Given the description of an element on the screen output the (x, y) to click on. 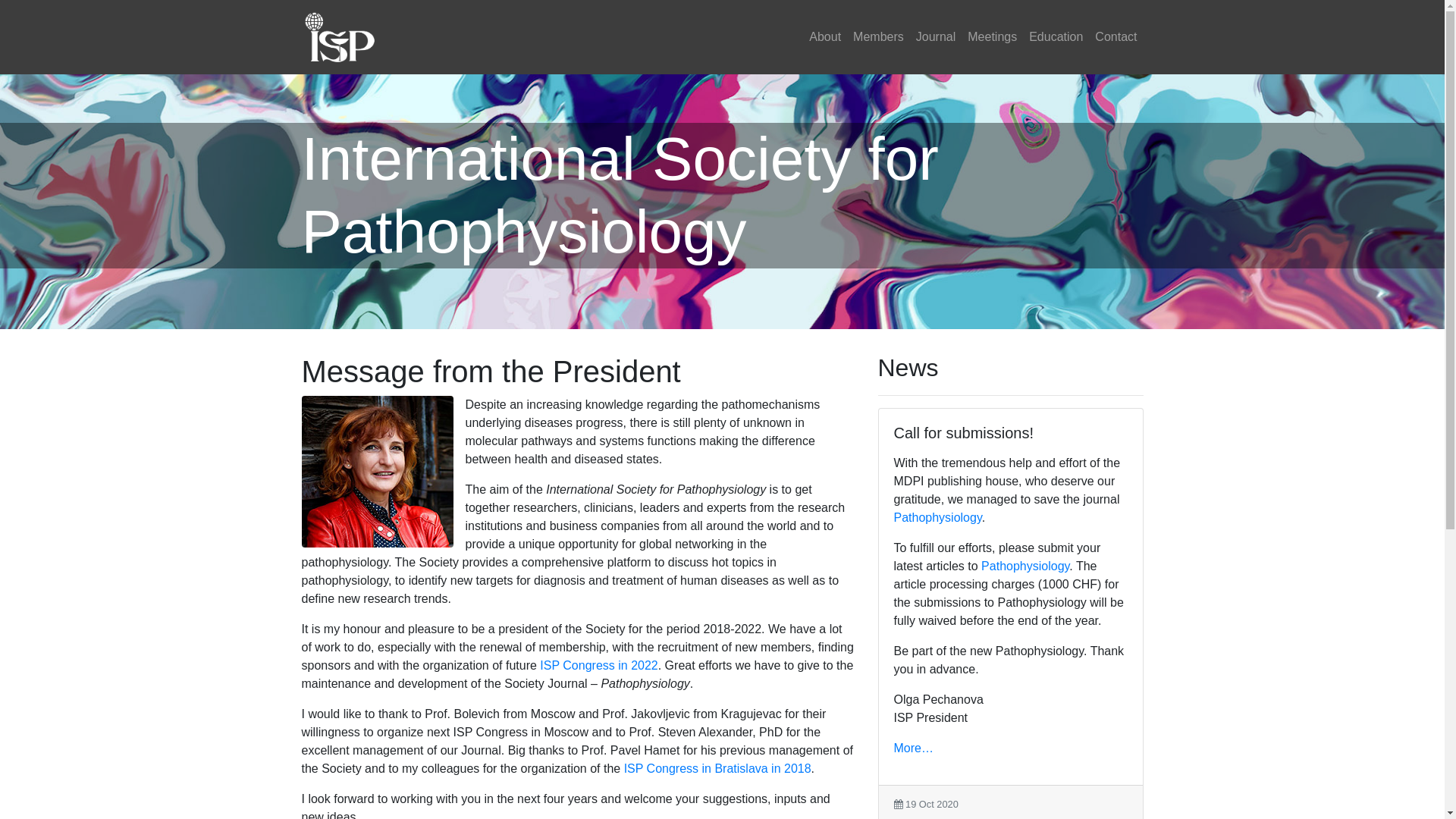
Pathophysiology Element type: text (937, 517)
Education Element type: text (1055, 36)
Members Element type: text (878, 36)
Meetings Element type: text (991, 36)
ISP Congress in Bratislava in 2018 Element type: text (717, 768)
Journal Element type: text (935, 36)
About Element type: text (825, 36)
Contact Element type: text (1115, 36)
ISP Congress in 2022 Element type: text (598, 664)
Pathophysiology Element type: text (1025, 565)
